Given the description of an element on the screen output the (x, y) to click on. 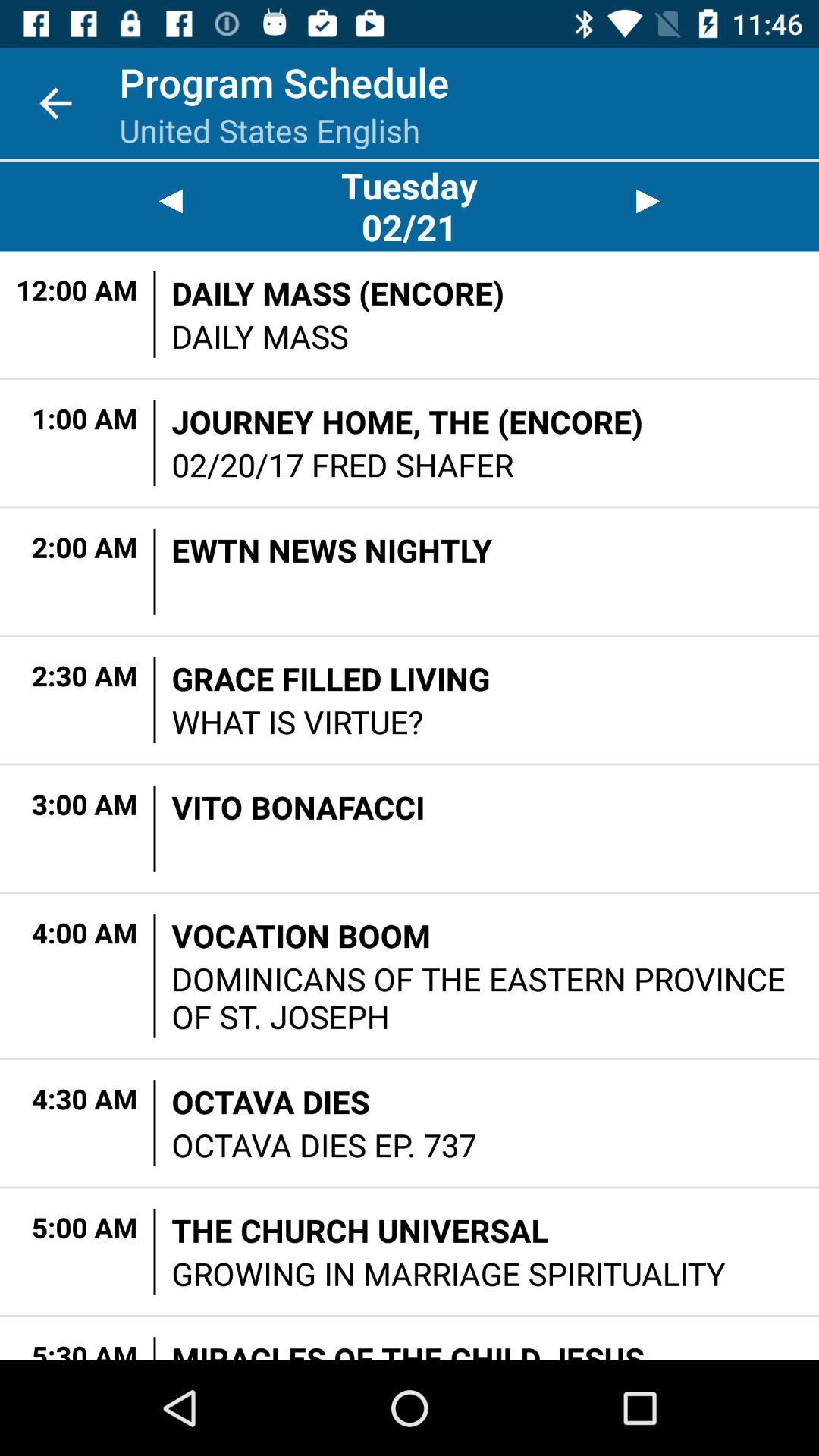
open item to the left of vito bonafacci item (154, 828)
